Given the description of an element on the screen output the (x, y) to click on. 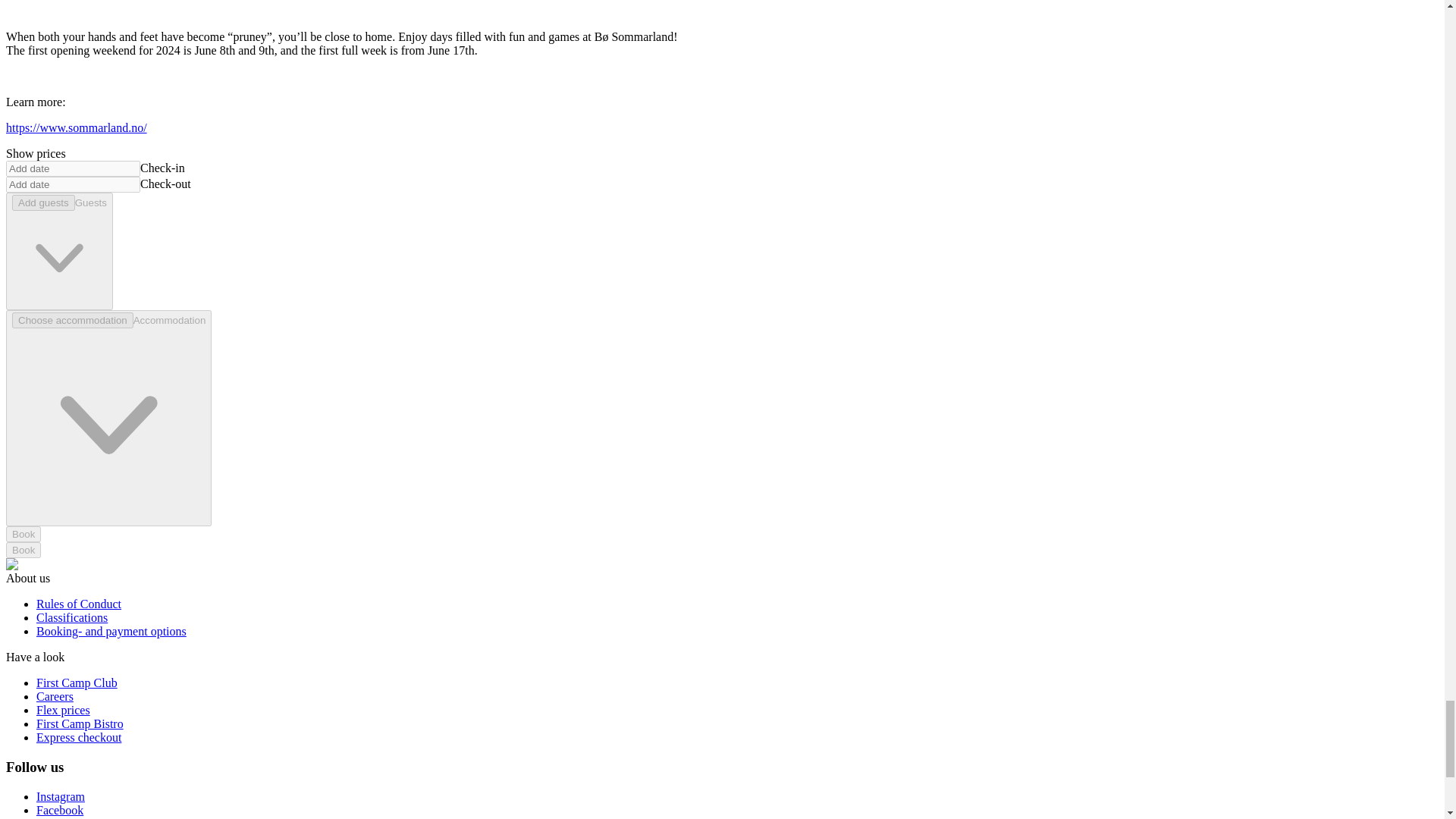
Book (22, 549)
Flex prices (63, 709)
Careers (55, 696)
Add guests (43, 202)
Accommodation (108, 418)
Rules of Conduct (78, 603)
Book (22, 534)
Booking- and payment options (111, 631)
Express checkout (78, 737)
Facebook (59, 809)
Instagram (60, 796)
Guests (59, 251)
Choose accommodation (72, 320)
First Camp Club (76, 682)
Classifications (71, 617)
